Given the description of an element on the screen output the (x, y) to click on. 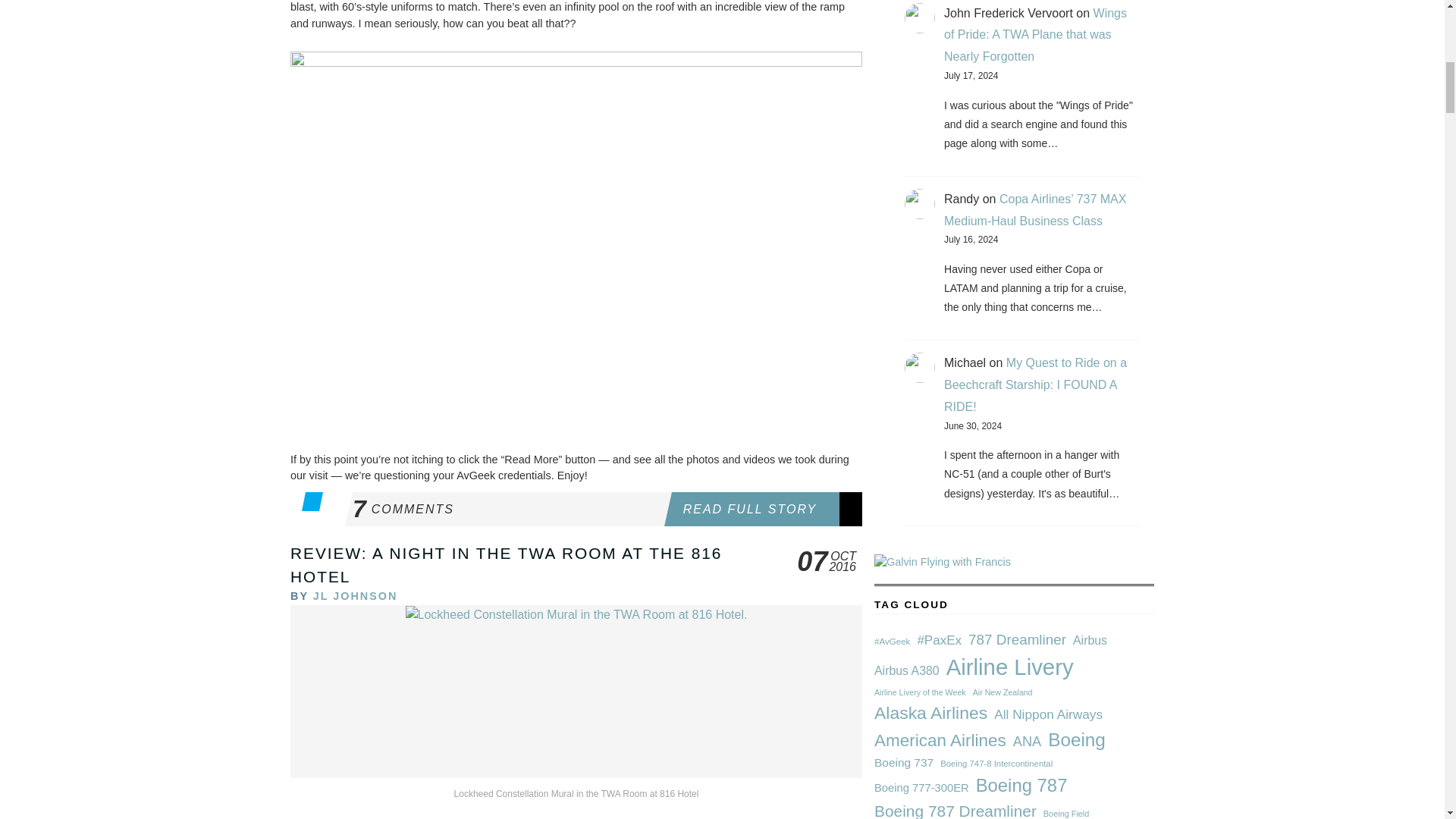
Posts by JL Johnson (355, 595)
READ FULL STORY (766, 509)
JL JOHNSON (507, 509)
REVIEW: A NIGHT IN THE TWA ROOM AT THE 816 HOTEL (355, 595)
Review: A Night in the TWA Room at the 816 Hotel (505, 564)
